Given the description of an element on the screen output the (x, y) to click on. 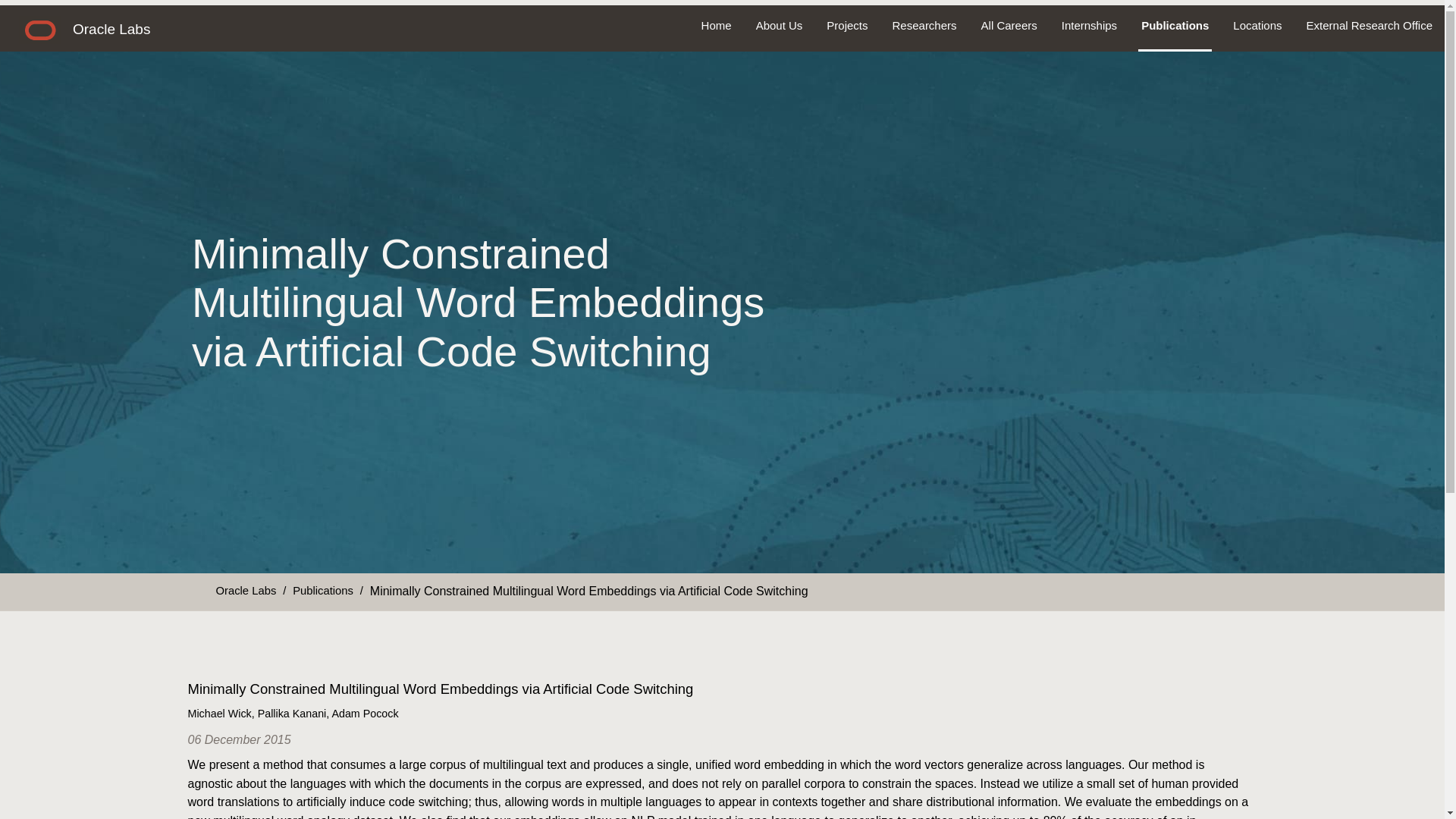
Oracle Labs (245, 590)
About Us (779, 25)
Home (716, 25)
Oracle Labs (111, 29)
Researchers (924, 25)
Internships (1089, 25)
Locations (1257, 25)
Publications (1175, 25)
Projects (846, 25)
Publications (322, 590)
All Careers (1009, 25)
